Given the description of an element on the screen output the (x, y) to click on. 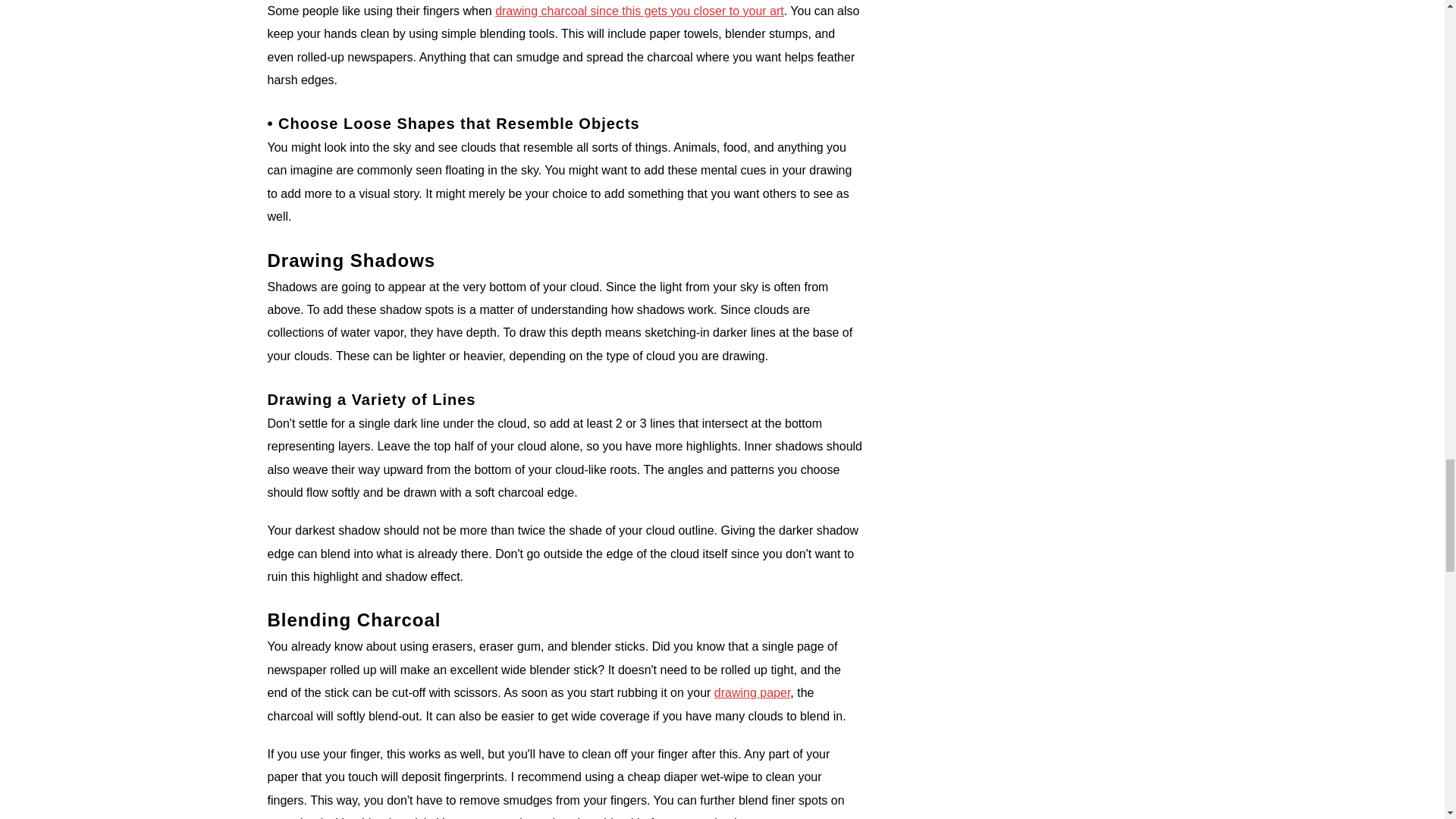
drawing charcoal since this gets you closer to your art (639, 10)
drawing paper (752, 692)
How To Stop Drawing Slanted (639, 10)
Can you Draw on Parchment Paper? (752, 692)
